Given the description of an element on the screen output the (x, y) to click on. 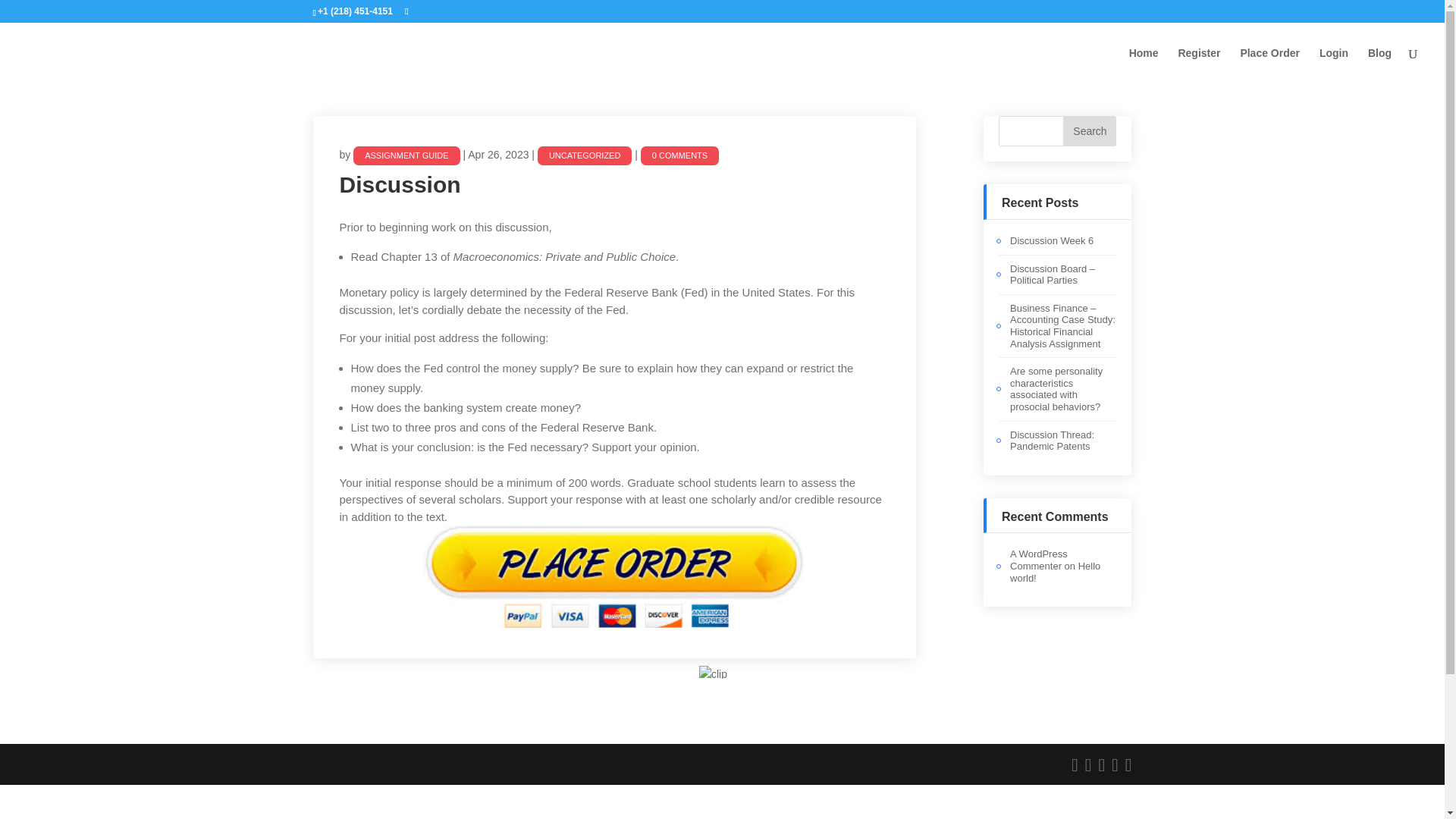
UNCATEGORIZED (584, 155)
Posts by Assignment Guide (406, 155)
Register (1198, 65)
ASSIGNMENT GUIDE (406, 155)
A WordPress Commenter (1038, 559)
Place Order (1270, 65)
Discussion Thread: Pandemic Patents (1052, 440)
Posts by Assignment Guide (599, 249)
0 COMMENTS (871, 249)
Hello world! (1055, 571)
